Given the description of an element on the screen output the (x, y) to click on. 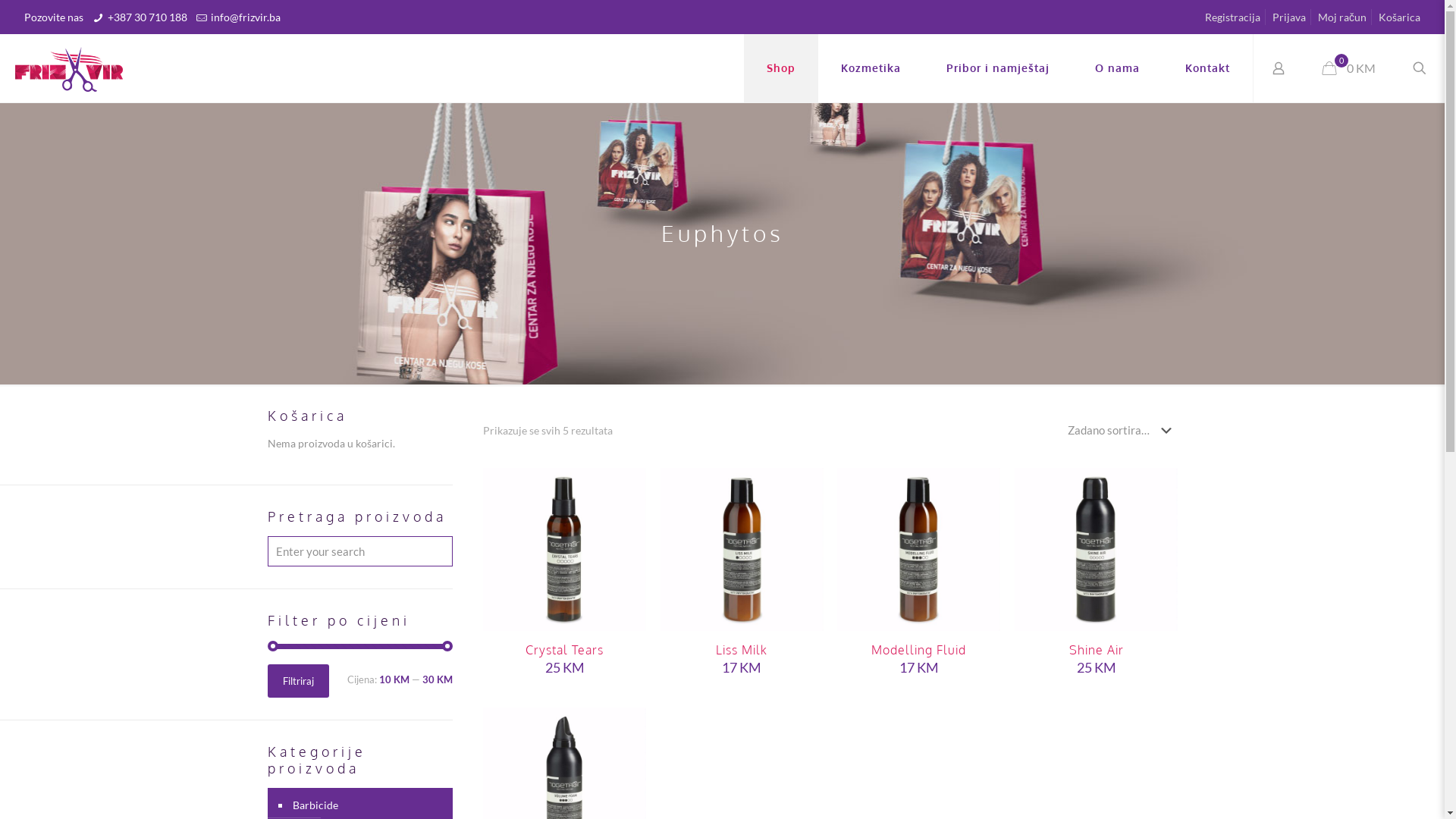
+387 30 710 188 Element type: text (147, 16)
Barbicide Element type: text (366, 804)
O nama Element type: text (1117, 68)
Registracija Element type: text (1232, 16)
Kozmetika Element type: text (870, 68)
Shine Air Element type: text (1096, 649)
Filtriraj Element type: text (297, 680)
Modelling Fluid Element type: text (918, 649)
Liss Milk Element type: text (741, 649)
Prijava Element type: text (1288, 16)
info@frizvir.ba Element type: text (245, 16)
0
0 KM Element type: text (1348, 68)
Kontakt Element type: text (1207, 68)
FRIZ VIR Element type: hover (68, 68)
Crystal Tears Element type: text (564, 649)
Shop Element type: text (780, 68)
